Given the description of an element on the screen output the (x, y) to click on. 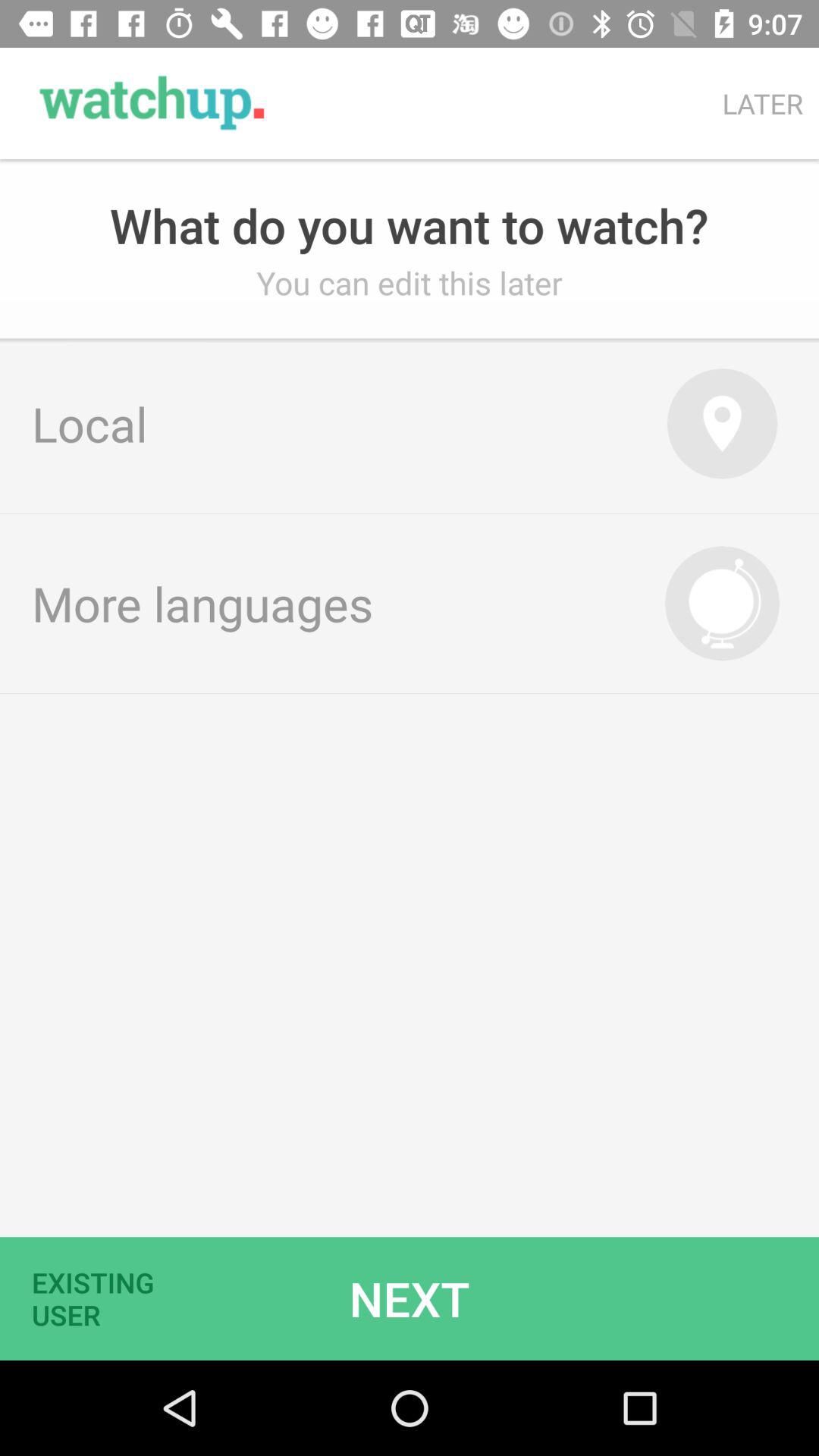
press the existing
user icon (102, 1298)
